Given the description of an element on the screen output the (x, y) to click on. 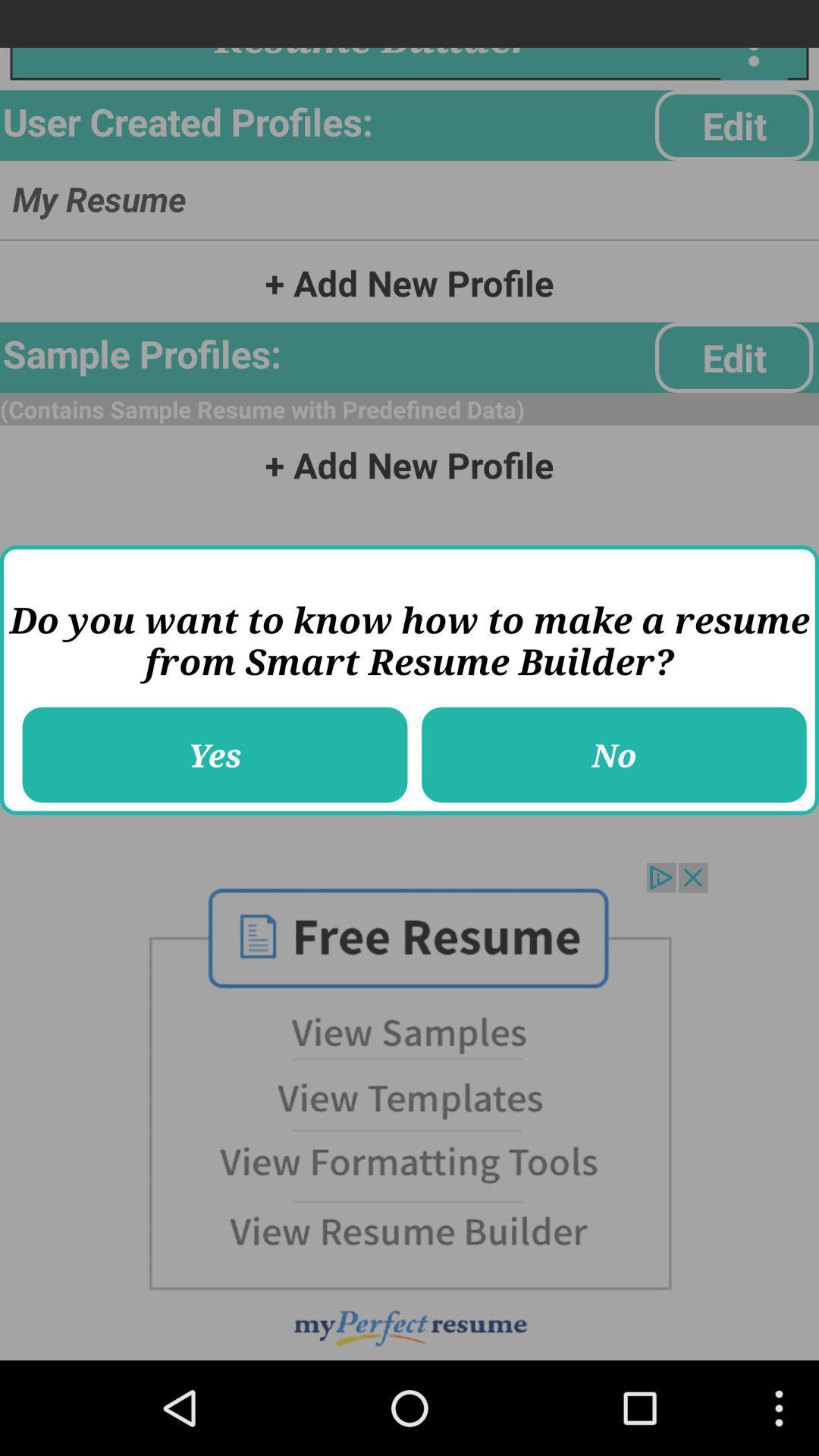
swipe to no icon (613, 754)
